Given the description of an element on the screen output the (x, y) to click on. 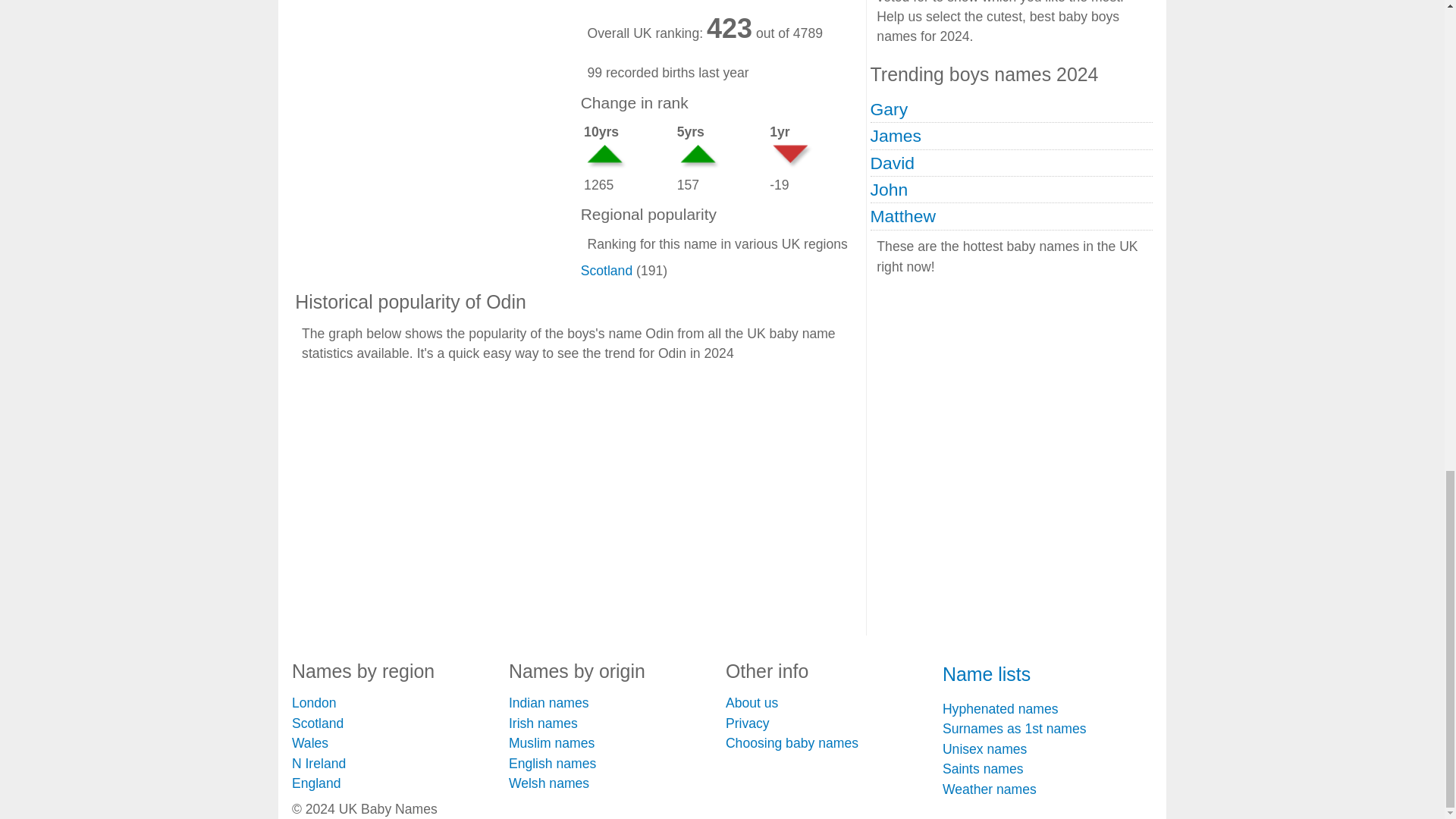
Muslim names (551, 743)
John (889, 189)
Indian names (548, 702)
England (316, 783)
N Ireland (319, 763)
Scotland (317, 723)
David (892, 162)
Wales (310, 743)
Matthew (903, 216)
London (314, 702)
